Given the description of an element on the screen output the (x, y) to click on. 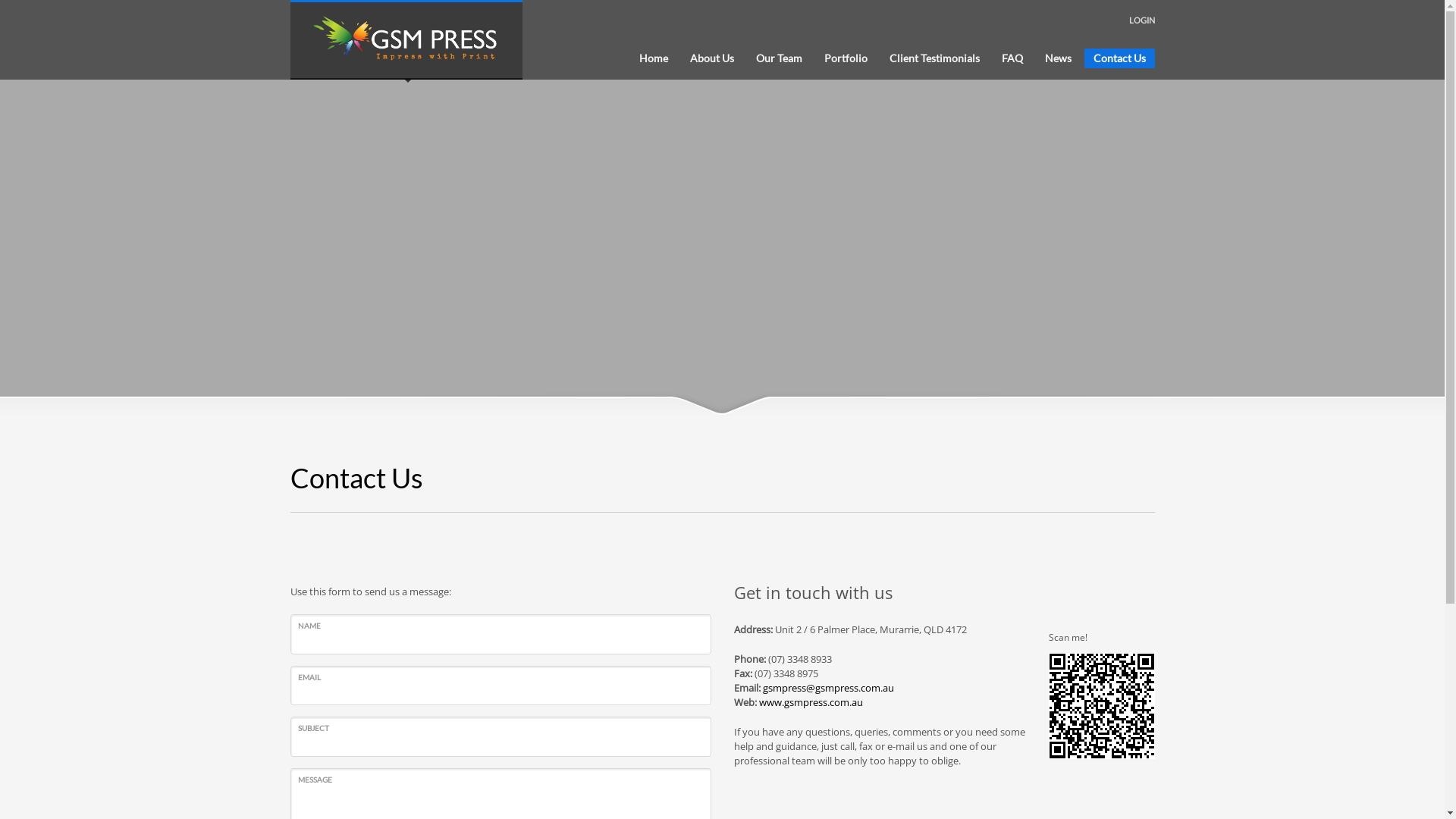
Contact Us Element type: text (1119, 58)
Impress With Print Element type: hover (406, 40)
Client Testimonials Element type: text (933, 58)
About Us Element type: text (711, 58)
News Element type: text (1057, 58)
gsmpress@gsmpress.com.au Element type: text (828, 687)
Portfolio Element type: text (844, 58)
Home Element type: text (652, 58)
Our Team Element type: text (778, 58)
FAQ Element type: text (1011, 58)
www.gsmpress.com.au Element type: text (810, 702)
LOGIN Element type: text (1141, 20)
